Given the description of an element on the screen output the (x, y) to click on. 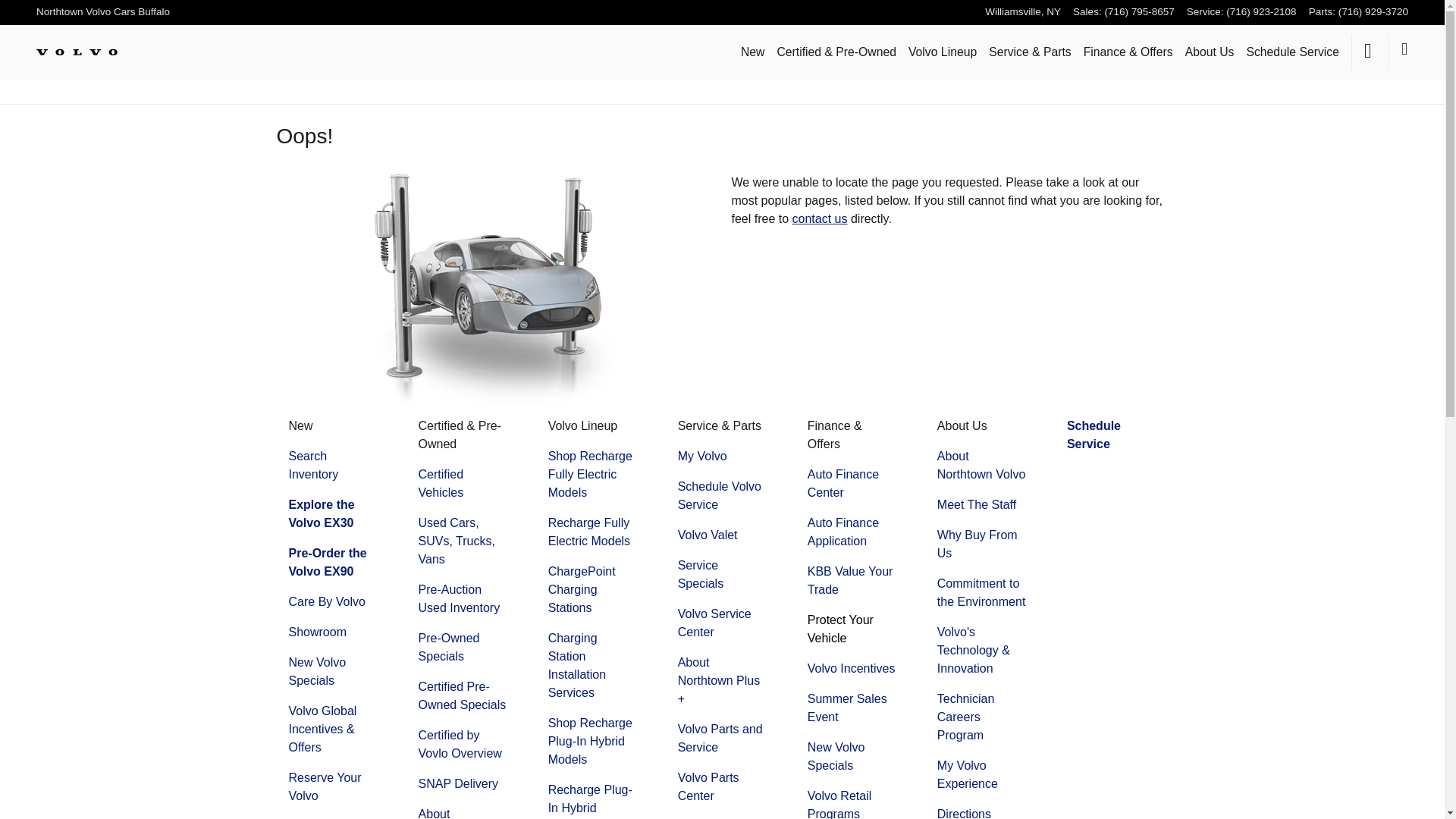
Volvo Lineup (942, 52)
Home (76, 52)
Northtown Volvo Cars Buffalo (103, 11)
Williamsville, NY (1023, 11)
New (753, 52)
